Given the description of an element on the screen output the (x, y) to click on. 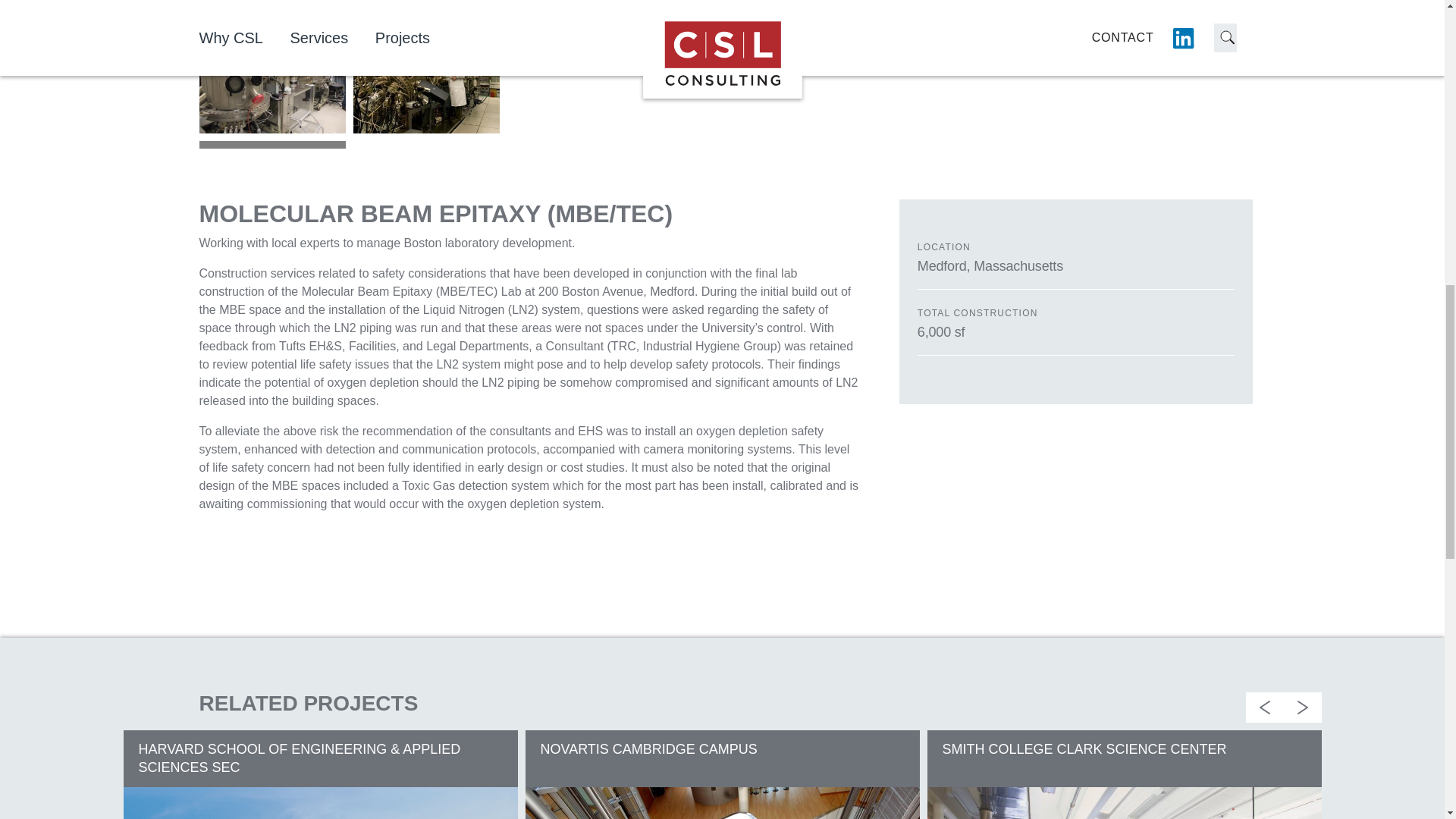
Previous (1263, 707)
Previous (1188, 34)
Next (1225, 34)
